Given the description of an element on the screen output the (x, y) to click on. 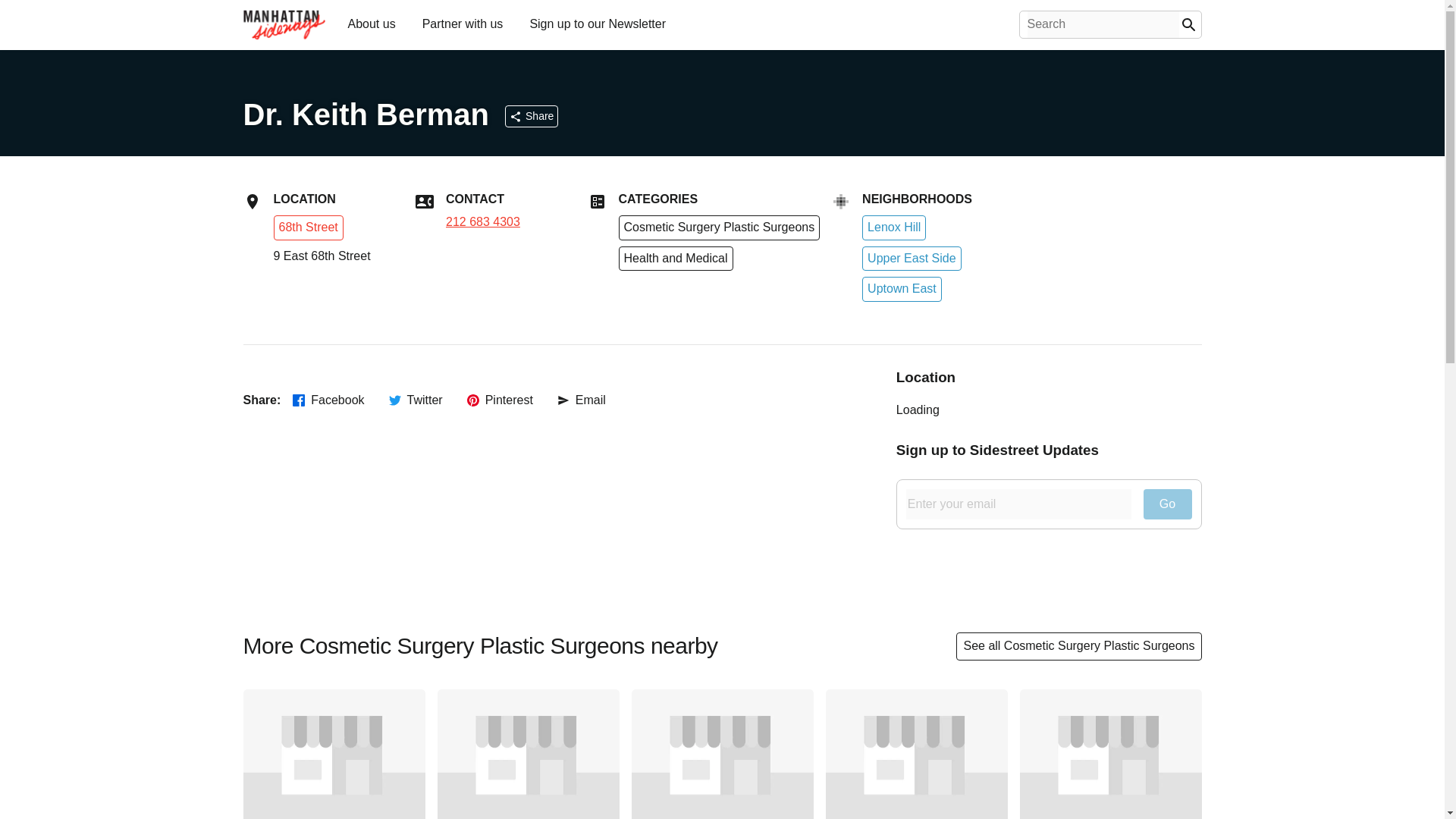
Sign up to our Newsletter (596, 23)
Uptown East (901, 288)
Upper East Side (910, 258)
See all Cosmetic Surgery Plastic Surgeons (1078, 646)
Pinterest (499, 400)
Email (581, 400)
68th Street (307, 226)
Go (1167, 503)
Twitter (415, 400)
Partner with us (462, 23)
